Given the description of an element on the screen output the (x, y) to click on. 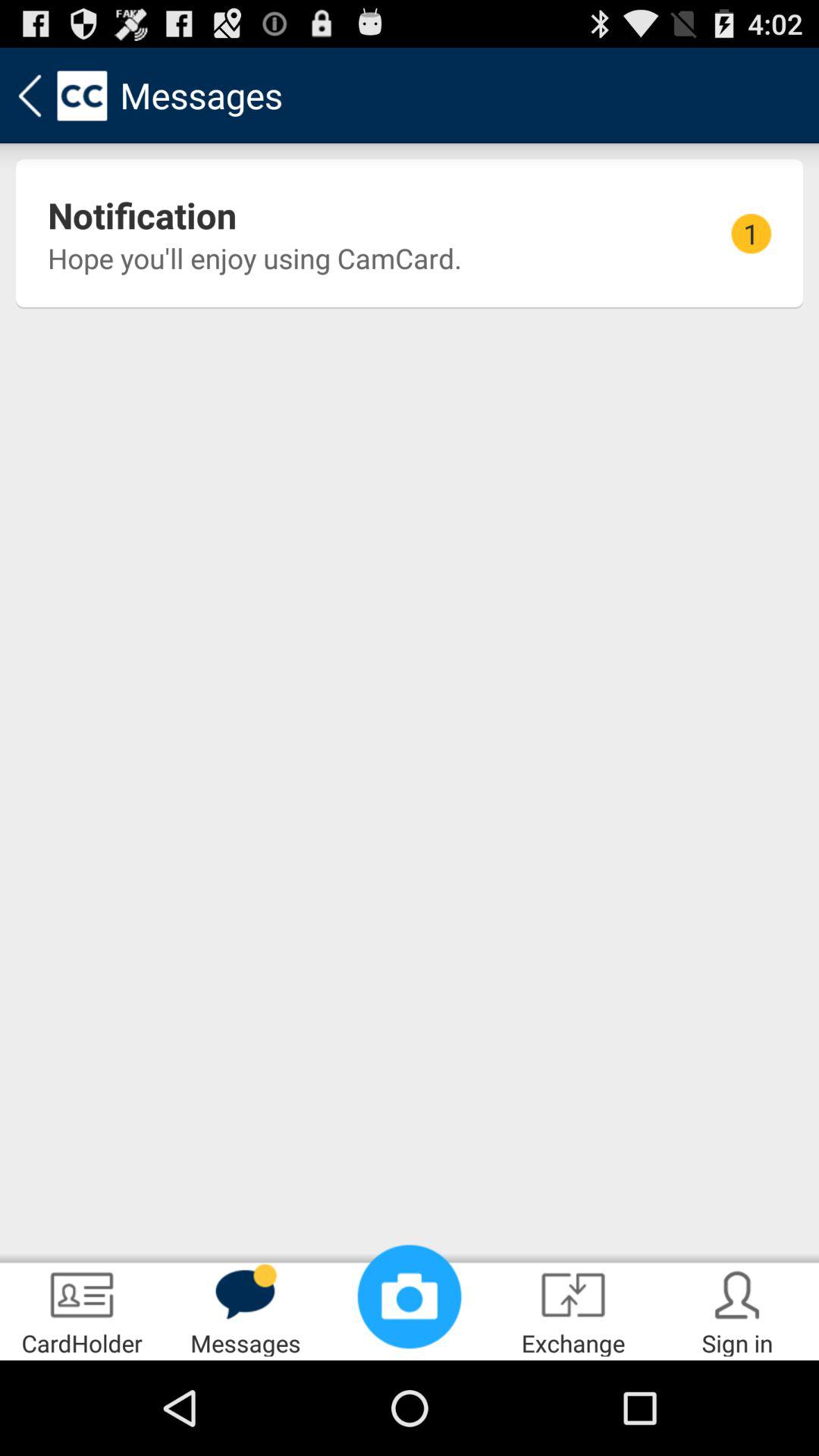
click the item next to exchange icon (409, 1296)
